Given the description of an element on the screen output the (x, y) to click on. 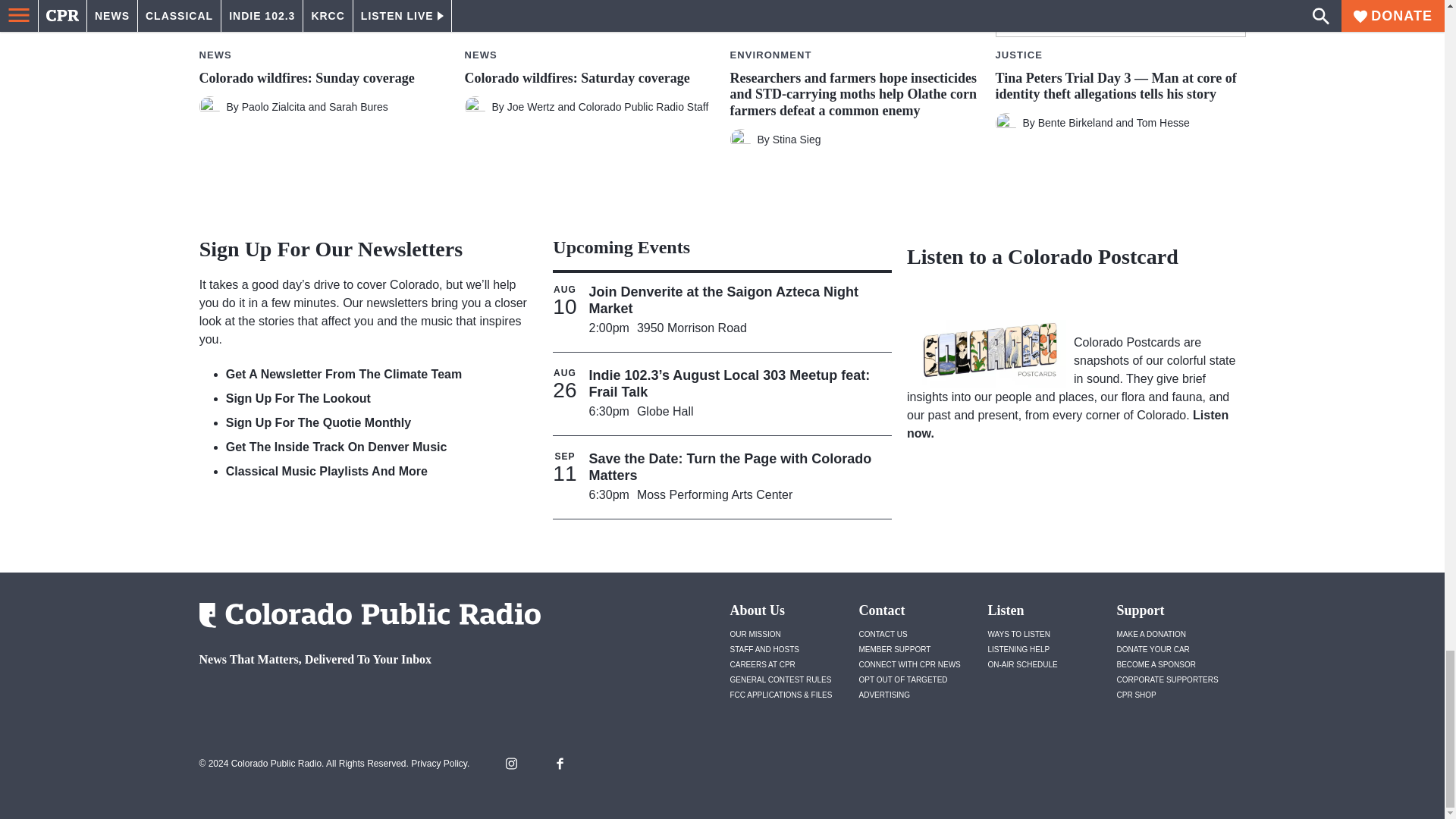
footer (364, 699)
